Given the description of an element on the screen output the (x, y) to click on. 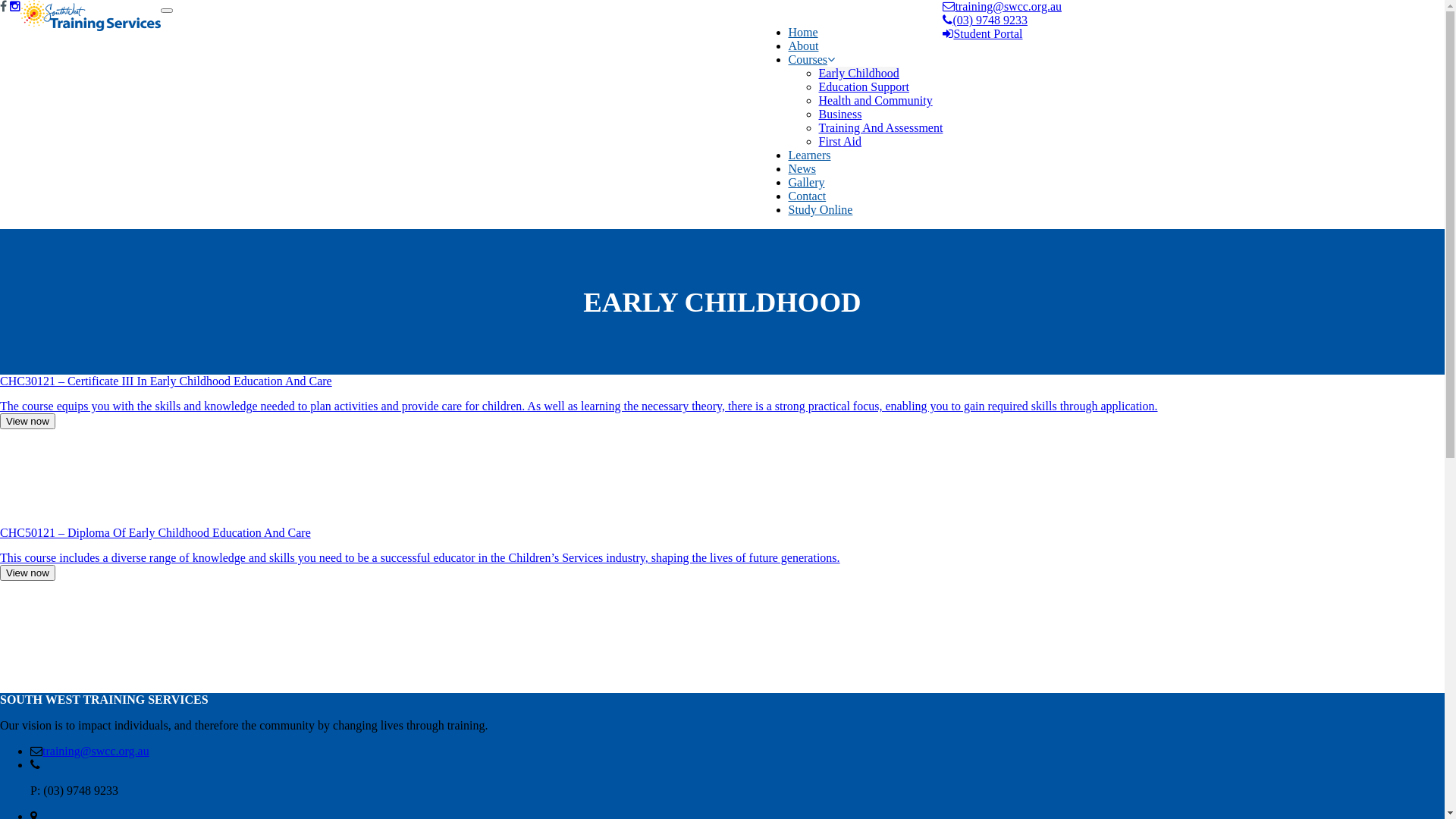
View now Element type: text (27, 572)
Training And Assessment Element type: text (881, 127)
Education Support Element type: text (864, 87)
Early Childhood Element type: text (859, 73)
First Aid Element type: text (840, 141)
Learners Element type: text (809, 155)
Health and Community Element type: text (875, 100)
Courses Element type: text (811, 59)
News Element type: text (801, 168)
Contact Element type: text (807, 196)
About Element type: text (803, 46)
Business Element type: text (840, 114)
Home Element type: text (803, 32)
Student Portal Element type: text (982, 33)
Gallery Element type: text (806, 182)
View now Element type: text (27, 421)
training@swcc.org.au Element type: text (95, 751)
training@swcc.org.au Element type: text (1001, 6)
(03) 9748 9233 Element type: text (984, 20)
Study Online Element type: text (820, 209)
